Given the description of an element on the screen output the (x, y) to click on. 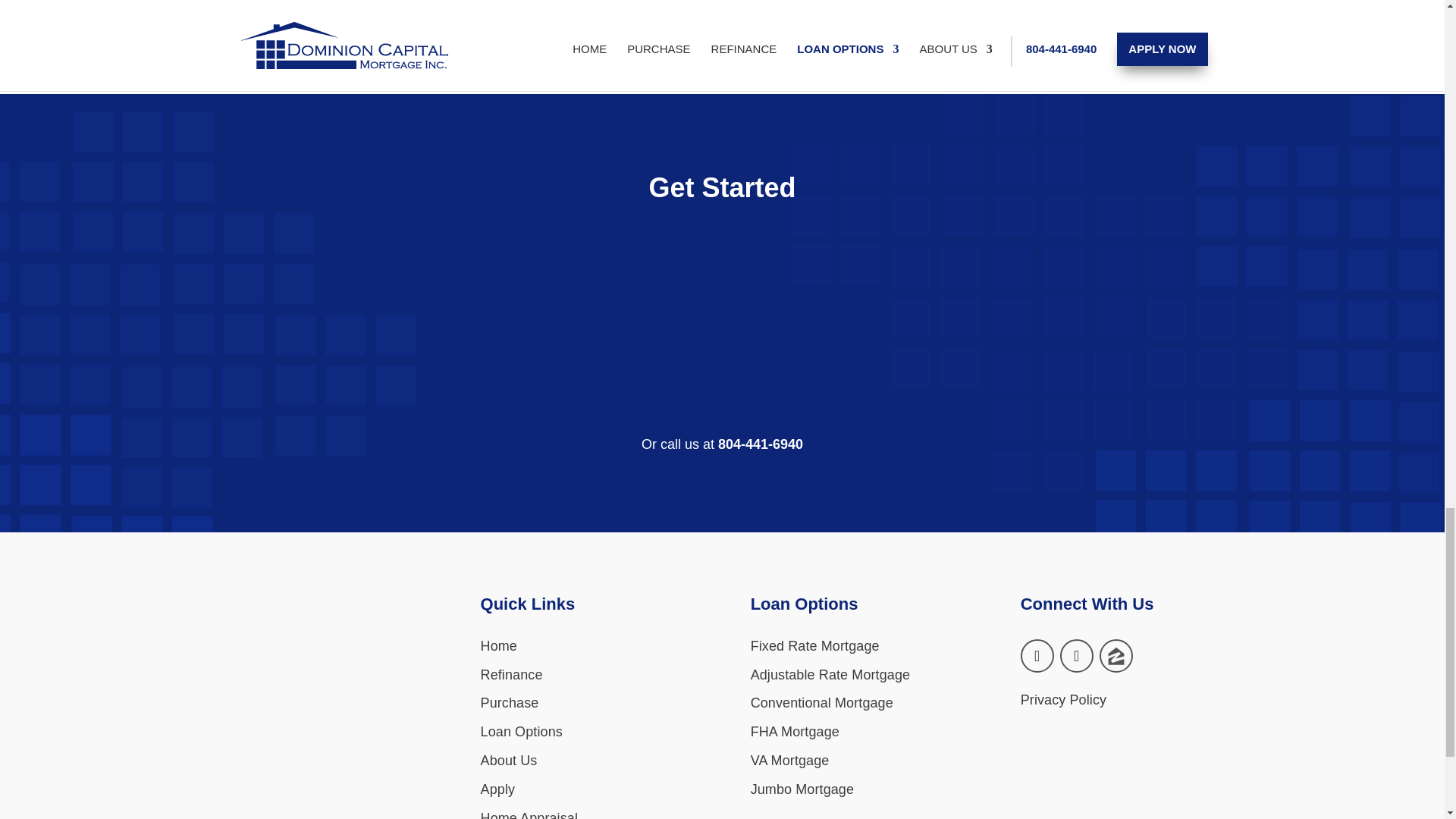
divider (721, 280)
Purchase (509, 702)
Fixed Rate Mortgage (815, 645)
804-441-6940 (760, 444)
Follow on Facebook (1037, 655)
Follow on MySpace (1115, 655)
Follow on LinkedIn (1076, 655)
Apply (497, 789)
Home (498, 645)
Refinance (511, 674)
house-lender (318, 782)
About Us (508, 760)
Loan Options (521, 731)
Home Appraisal (529, 814)
